Given the description of an element on the screen output the (x, y) to click on. 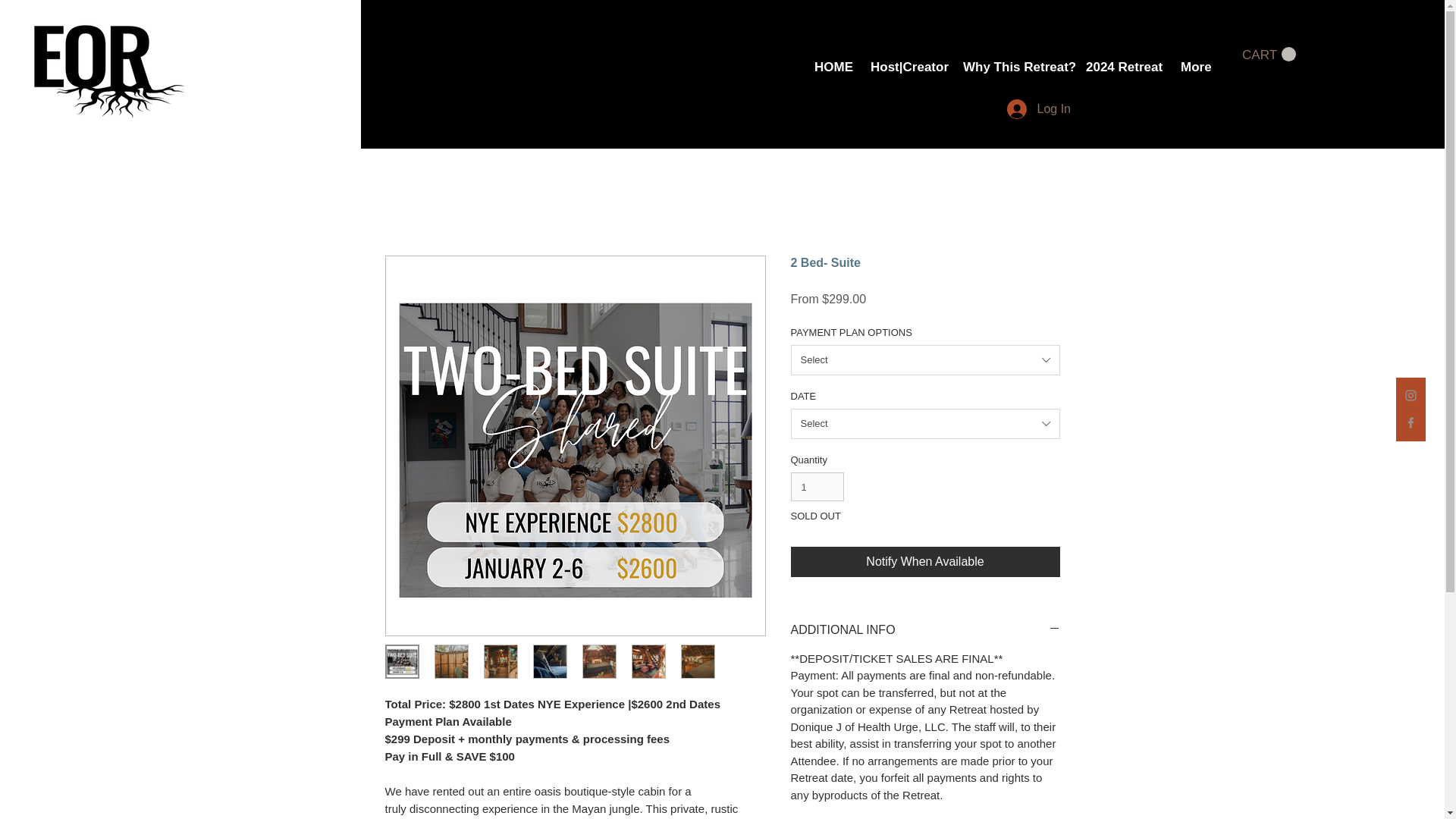
Notify When Available (924, 562)
CART (1268, 54)
Why This Retreat? (1013, 67)
Select (924, 423)
CART (1268, 54)
1 (817, 486)
Select (924, 359)
ADDITIONAL INFO (924, 630)
2024 Retreat (1121, 67)
HOME (831, 67)
